Given the description of an element on the screen output the (x, y) to click on. 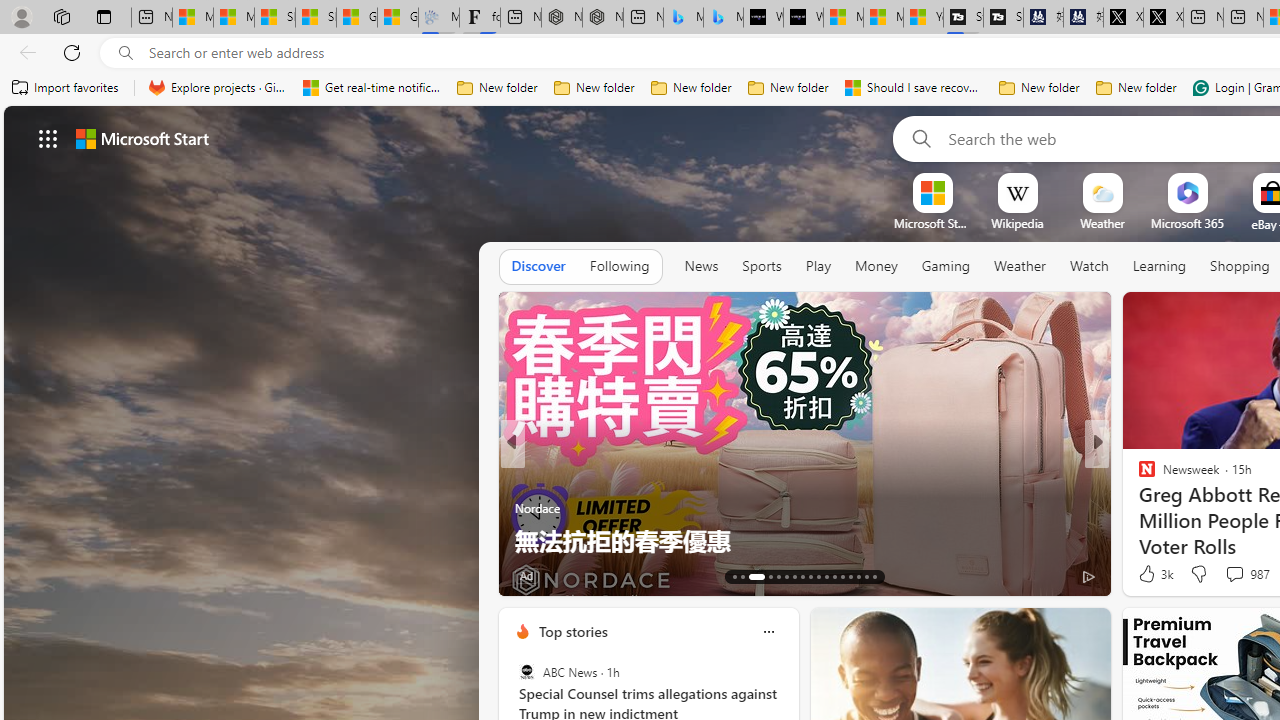
View comments 17 Comment (1244, 574)
AutomationID: tab-16 (763, 576)
FOX News (1138, 475)
View comments 85 Comment (1229, 575)
View comments 987 Comment (1246, 574)
ABC News (526, 672)
AutomationID: tab-25 (842, 576)
View comments 156 Comment (11, 575)
69 Like (1149, 574)
Search icon (125, 53)
Interesting Engineering (1138, 475)
View comments 251 Comment (1234, 575)
